Given the description of an element on the screen output the (x, y) to click on. 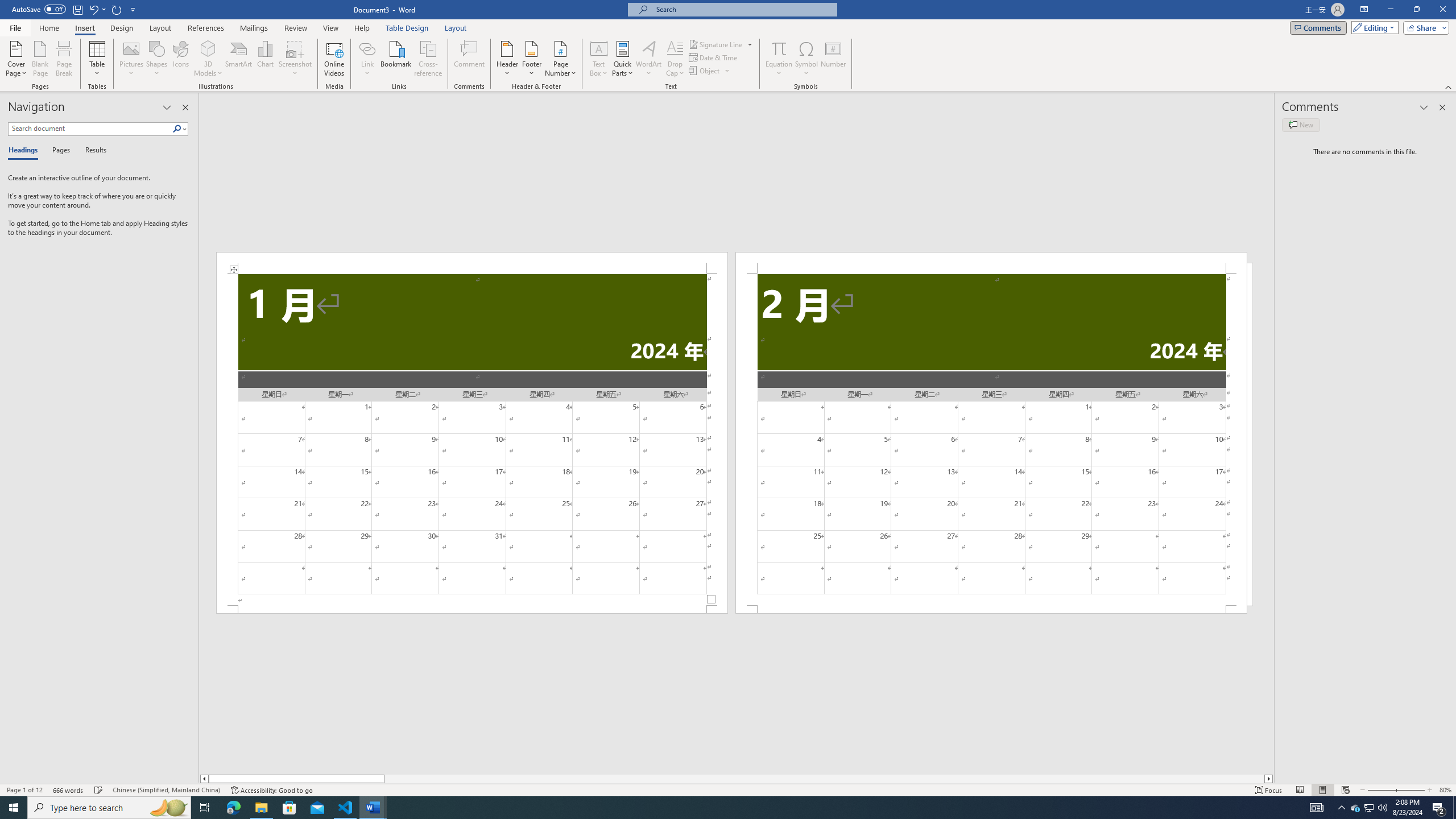
Search document (89, 128)
Icons (180, 58)
Signature Line (716, 44)
Footer (531, 58)
Help (361, 28)
Zoom Out (1378, 790)
Search (179, 128)
Insert (83, 28)
Restore Down (1416, 9)
Class: NetUIImage (177, 128)
Page Number Page 1 of 12 (24, 790)
Bookmark... (396, 58)
Class: MsoCommandBar (728, 789)
